Given the description of an element on the screen output the (x, y) to click on. 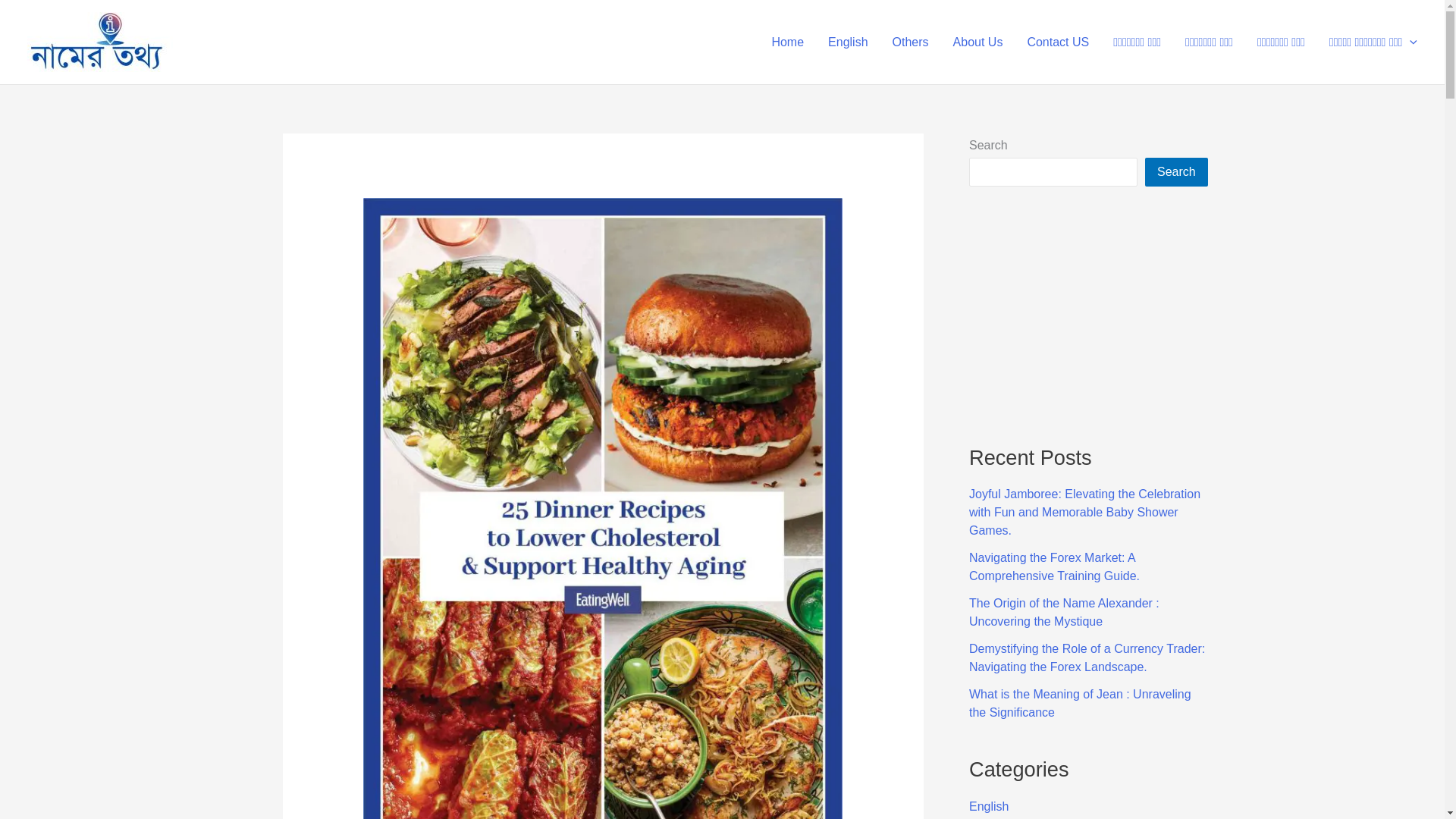
Home (786, 42)
English (847, 42)
About Us (977, 42)
Contact US (1057, 42)
Others (910, 42)
